Given the description of an element on the screen output the (x, y) to click on. 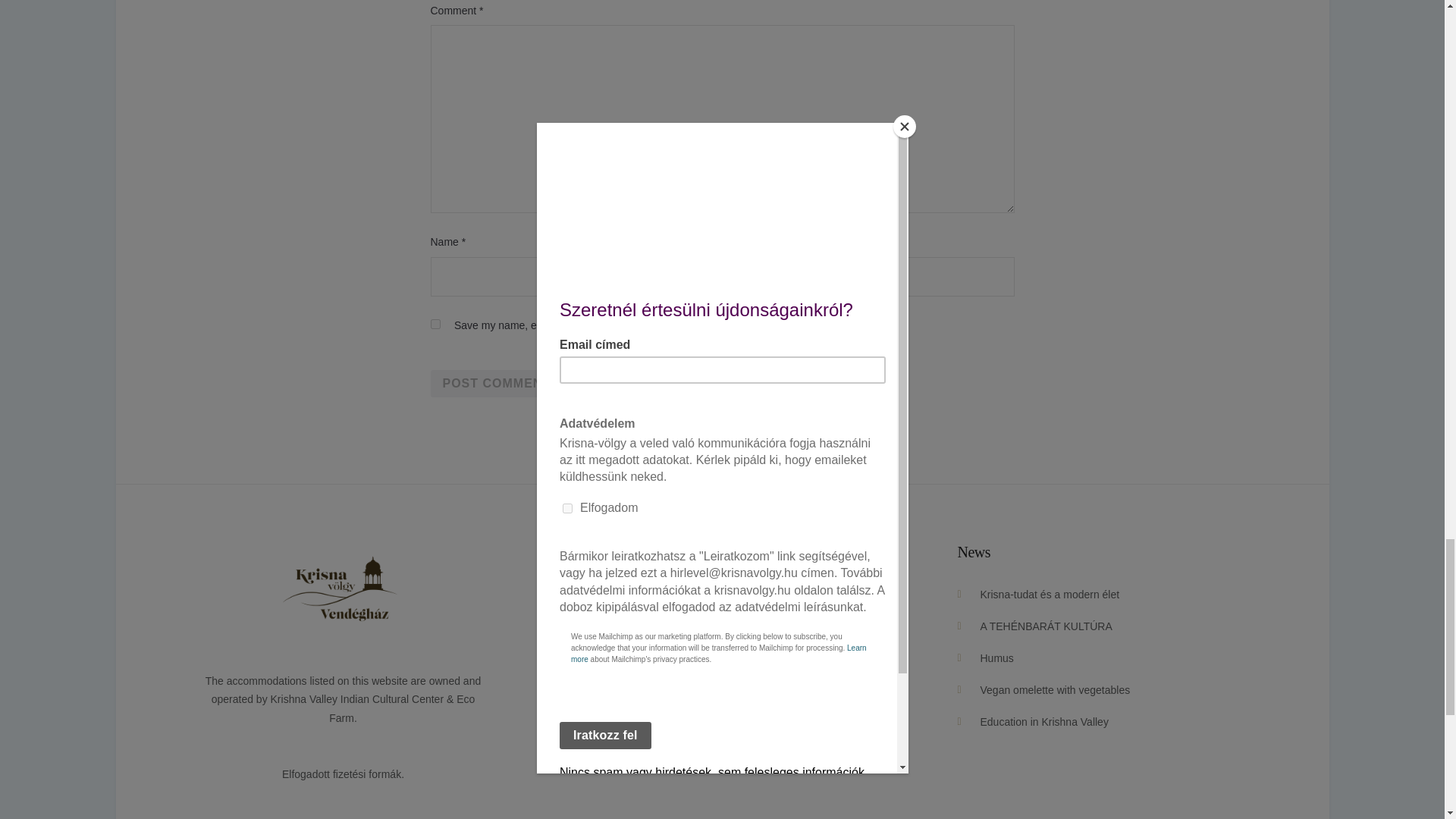
yes (435, 324)
Post Comment (496, 383)
